Given the description of an element on the screen output the (x, y) to click on. 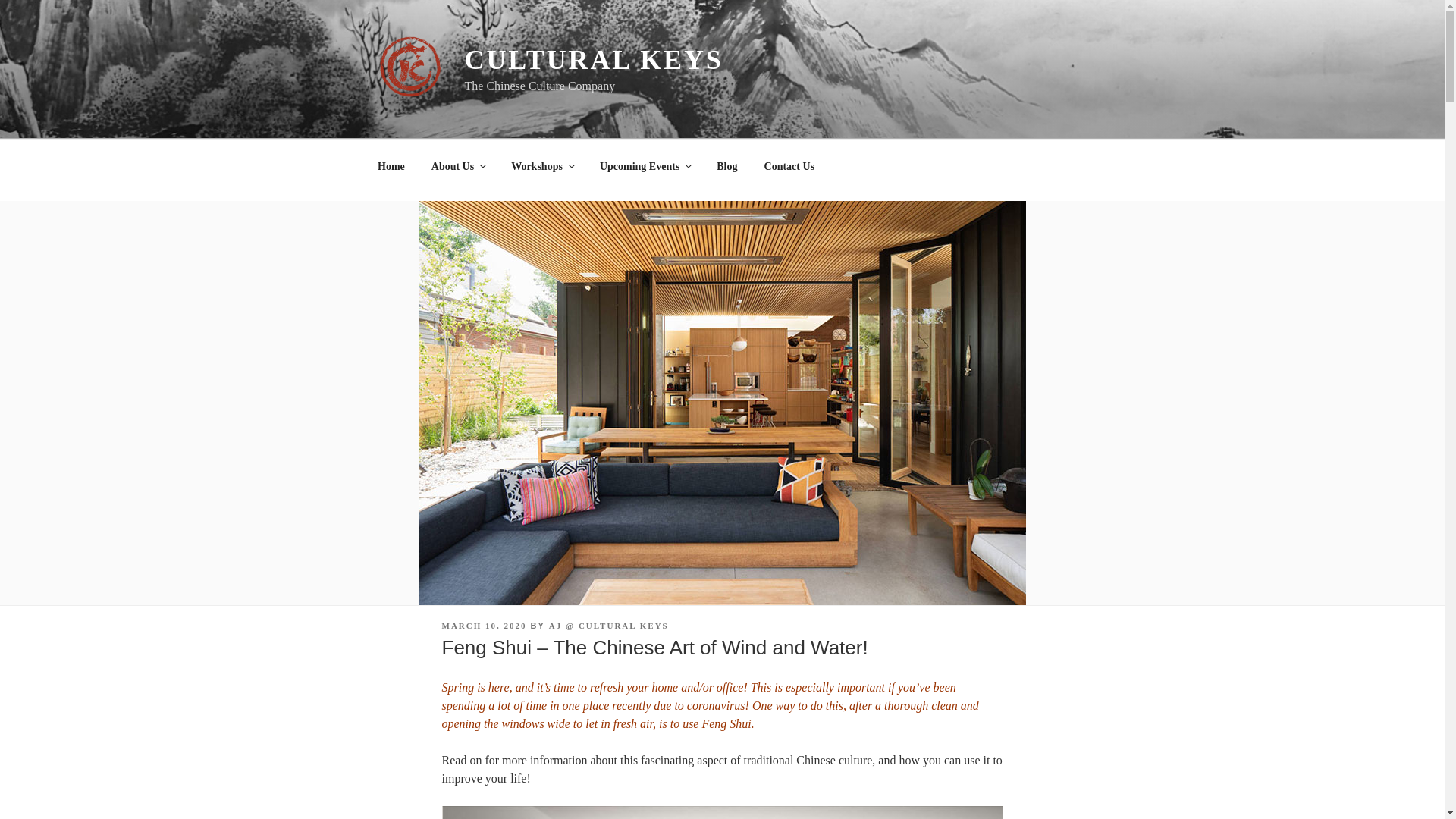
CULTURAL KEYS (593, 60)
Contact Us (789, 165)
Home (390, 165)
MARCH 10, 2020 (483, 624)
Blog (727, 165)
Workshops (541, 165)
About Us (457, 165)
Upcoming Events (644, 165)
